Given the description of an element on the screen output the (x, y) to click on. 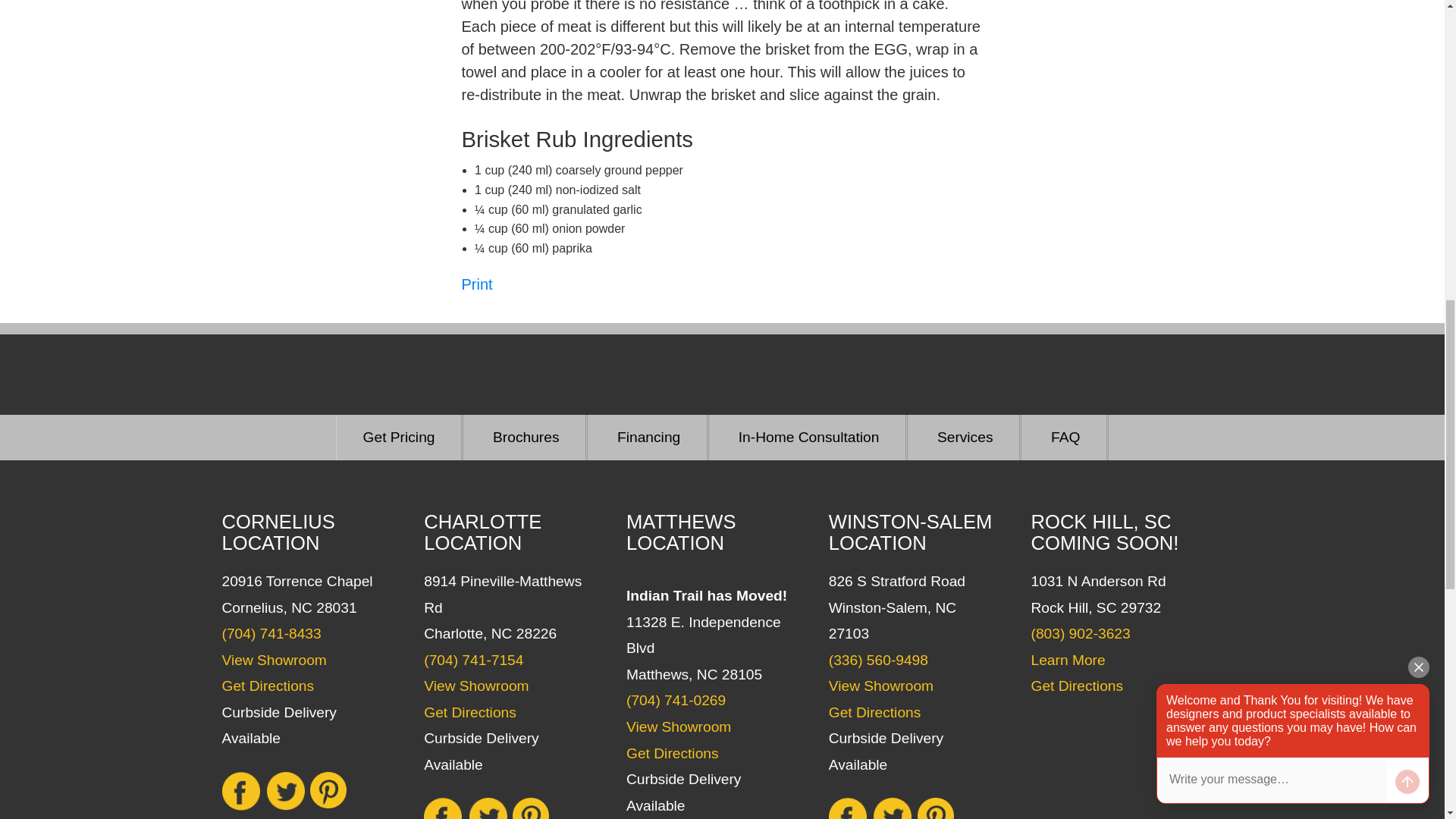
Texas-Style Brisket (476, 284)
